Given the description of an element on the screen output the (x, y) to click on. 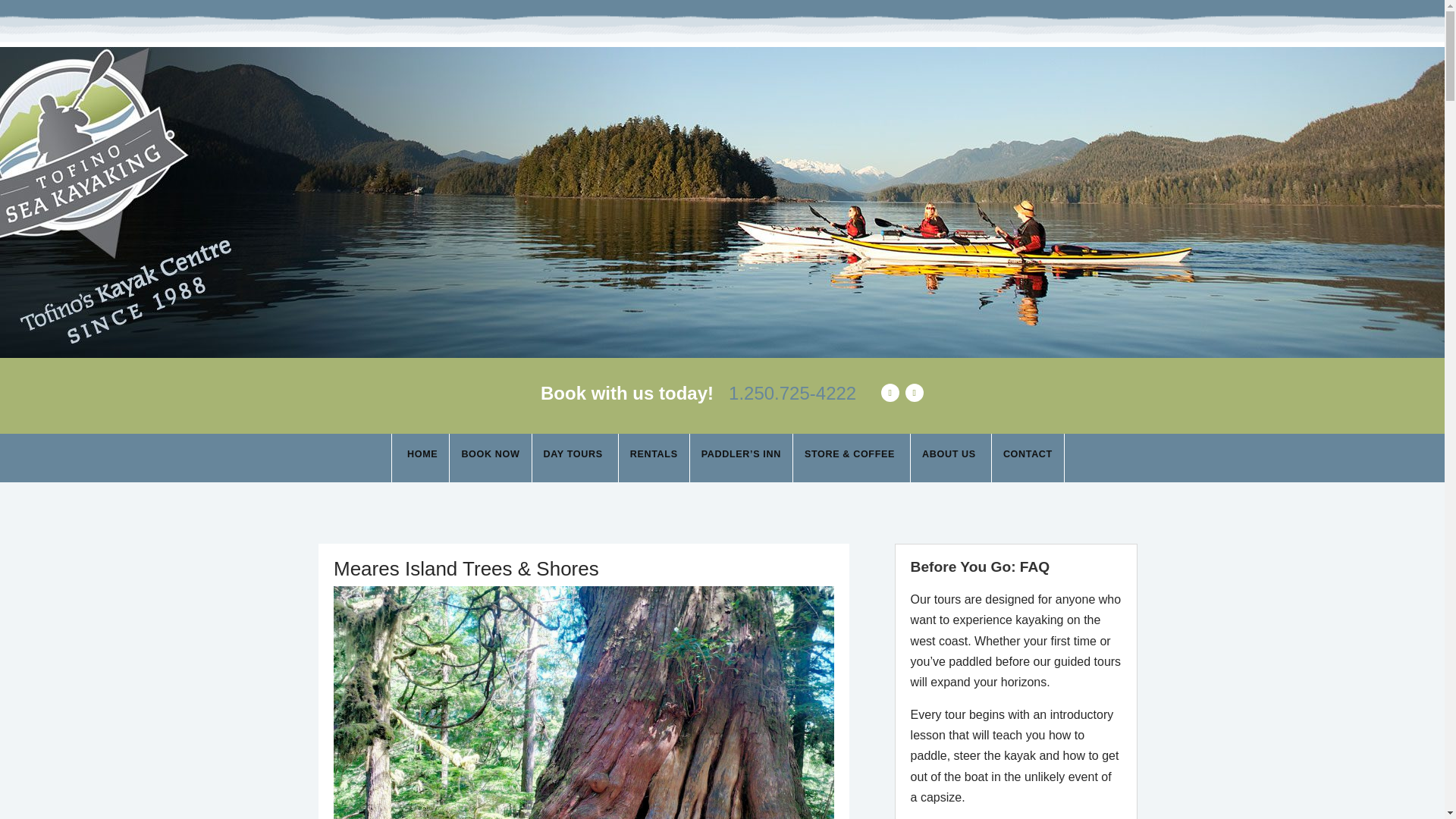
DAY TOURS (575, 458)
ABOUT US (951, 458)
HOME (420, 458)
Big Trees (583, 702)
BOOK NOW (490, 458)
CONTACT (1027, 458)
Follow on Facebook (889, 393)
Follow on Instagram (914, 393)
RENTALS (654, 458)
